Given the description of an element on the screen output the (x, y) to click on. 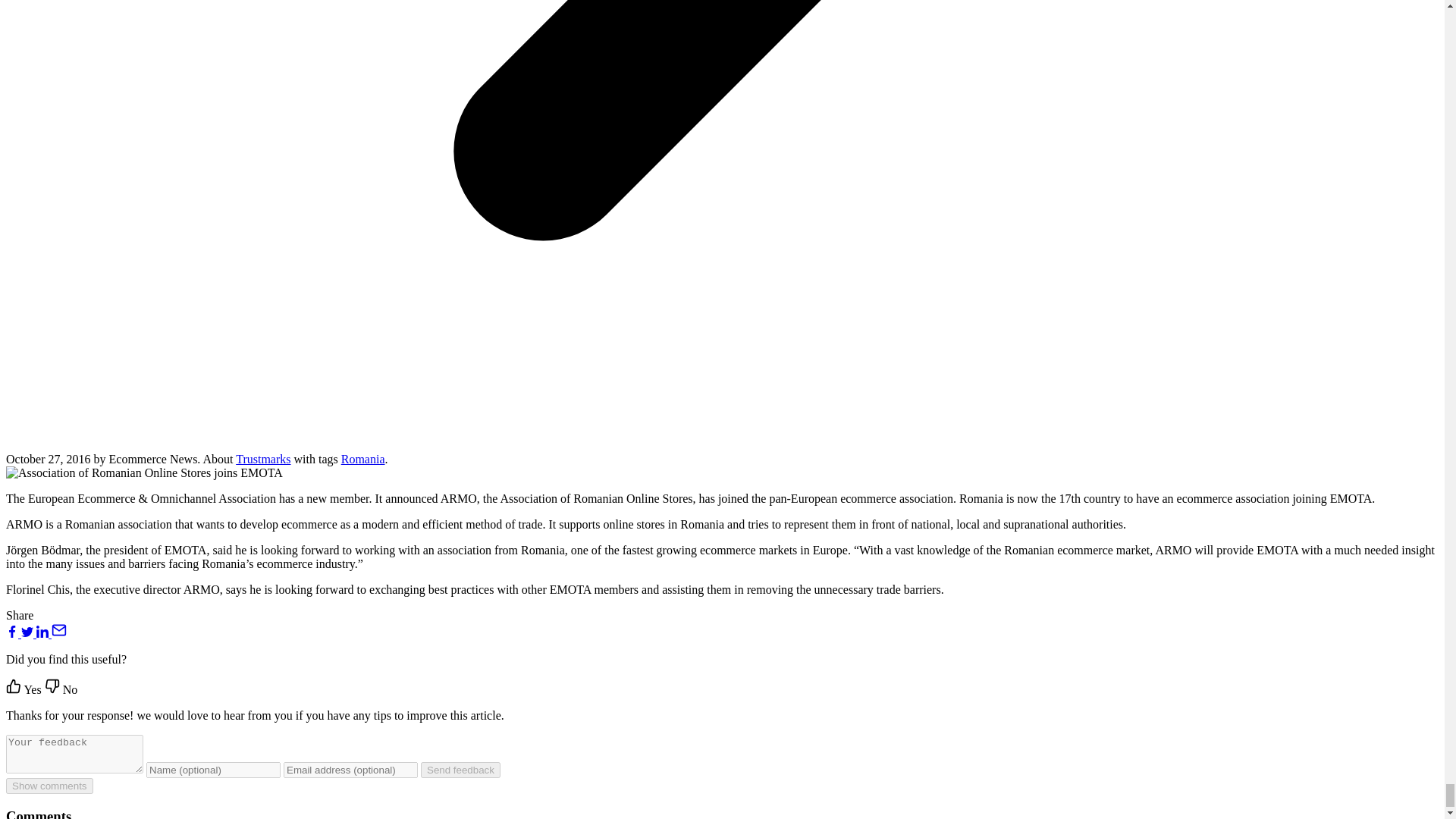
Romania (362, 459)
Share this on LinkedIn (43, 633)
Share this on Facebook (13, 633)
Email this article (58, 633)
Send feedback (460, 770)
Share this on Twitter (28, 633)
Yes (25, 689)
No (61, 689)
Show comments (49, 785)
Trustmarks (262, 459)
